Given the description of an element on the screen output the (x, y) to click on. 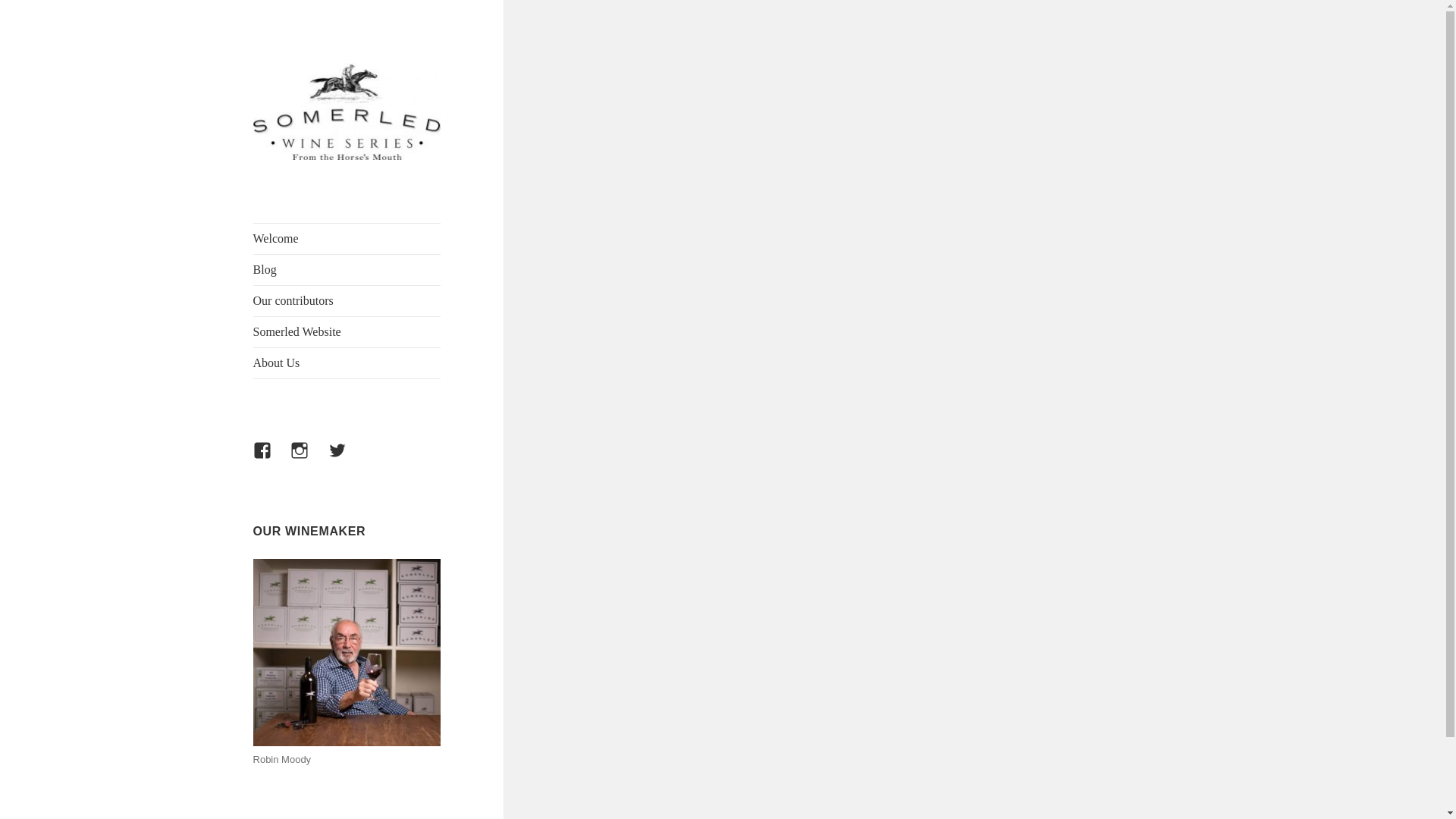
Welcome (347, 238)
Twitter (347, 459)
About Us (347, 363)
Instagram (307, 459)
Blog (347, 269)
Somerled Website (347, 331)
Somerled Wine Education Blog (328, 196)
Facebook (271, 459)
Our contributors (347, 300)
